Given the description of an element on the screen output the (x, y) to click on. 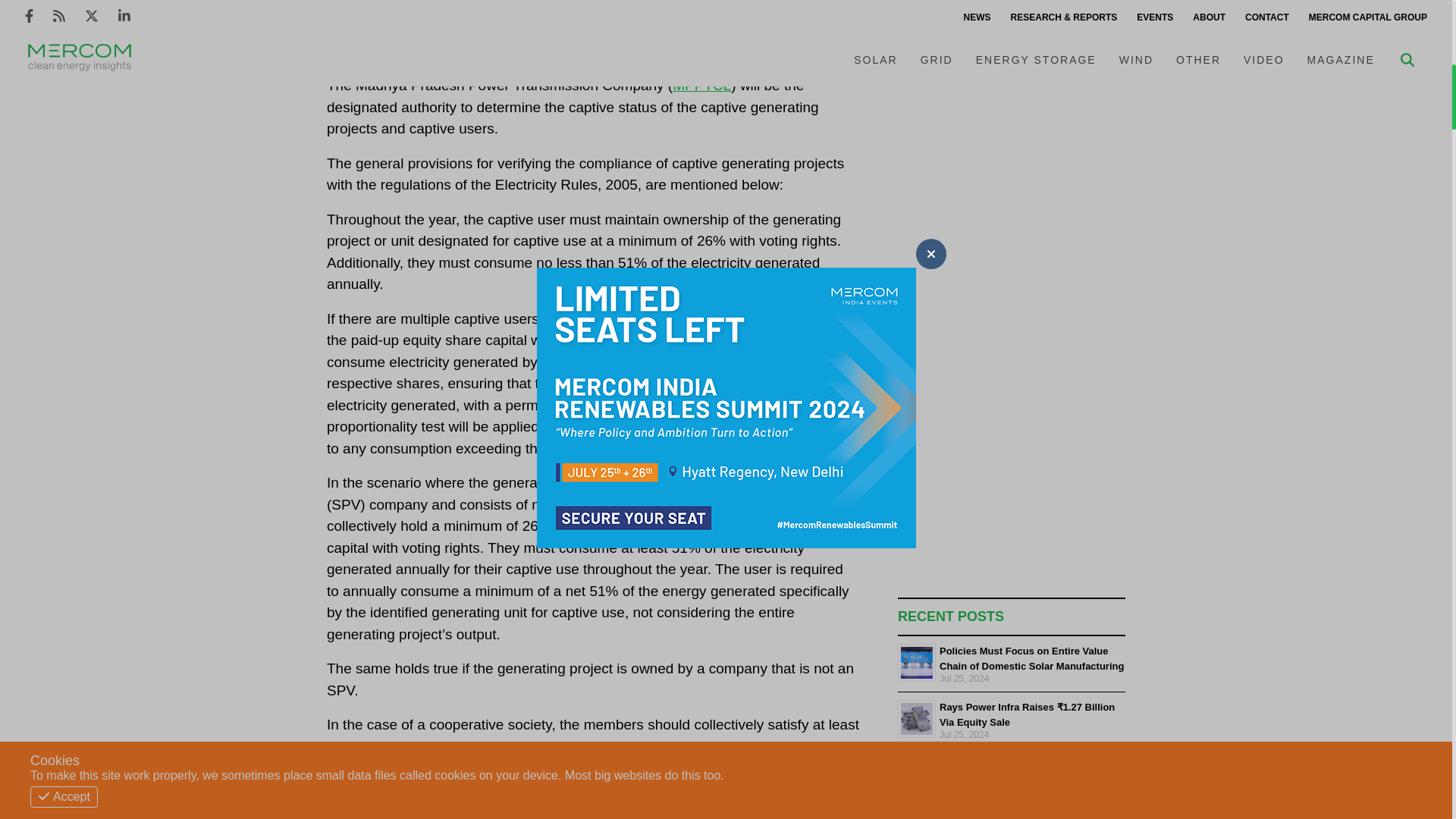
3rd party ad content (1011, 40)
